Given the description of an element on the screen output the (x, y) to click on. 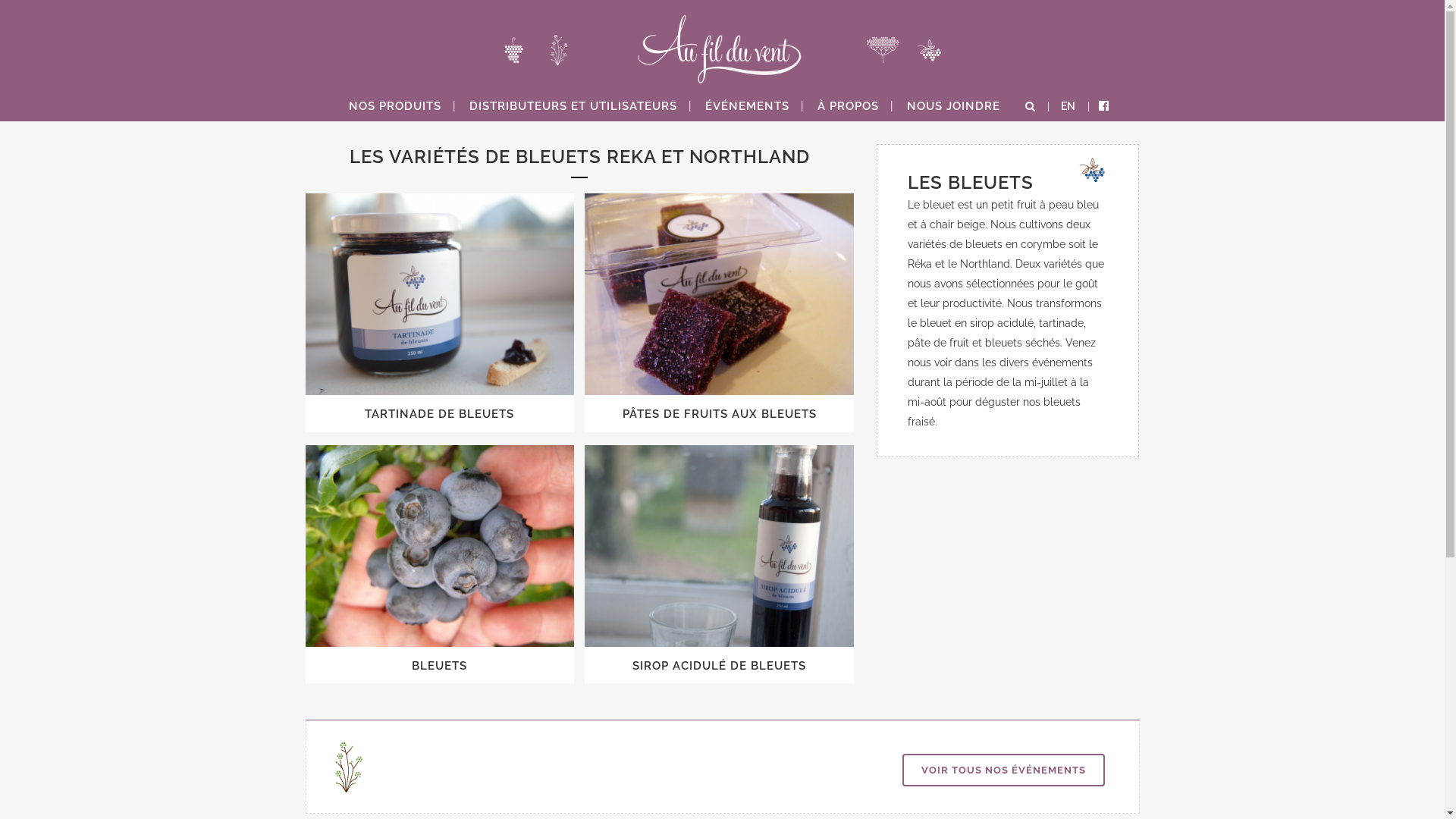
EN Element type: text (1066, 106)
DISTRIBUTEURS ET UTILISATEURS Element type: text (573, 106)
BLEUETS Element type: text (439, 665)
NOUS JOINDRE Element type: text (953, 106)
TARTINADE DE BLEUETS Element type: text (439, 413)
NOS PRODUITS Element type: text (394, 106)
